Given the description of an element on the screen output the (x, y) to click on. 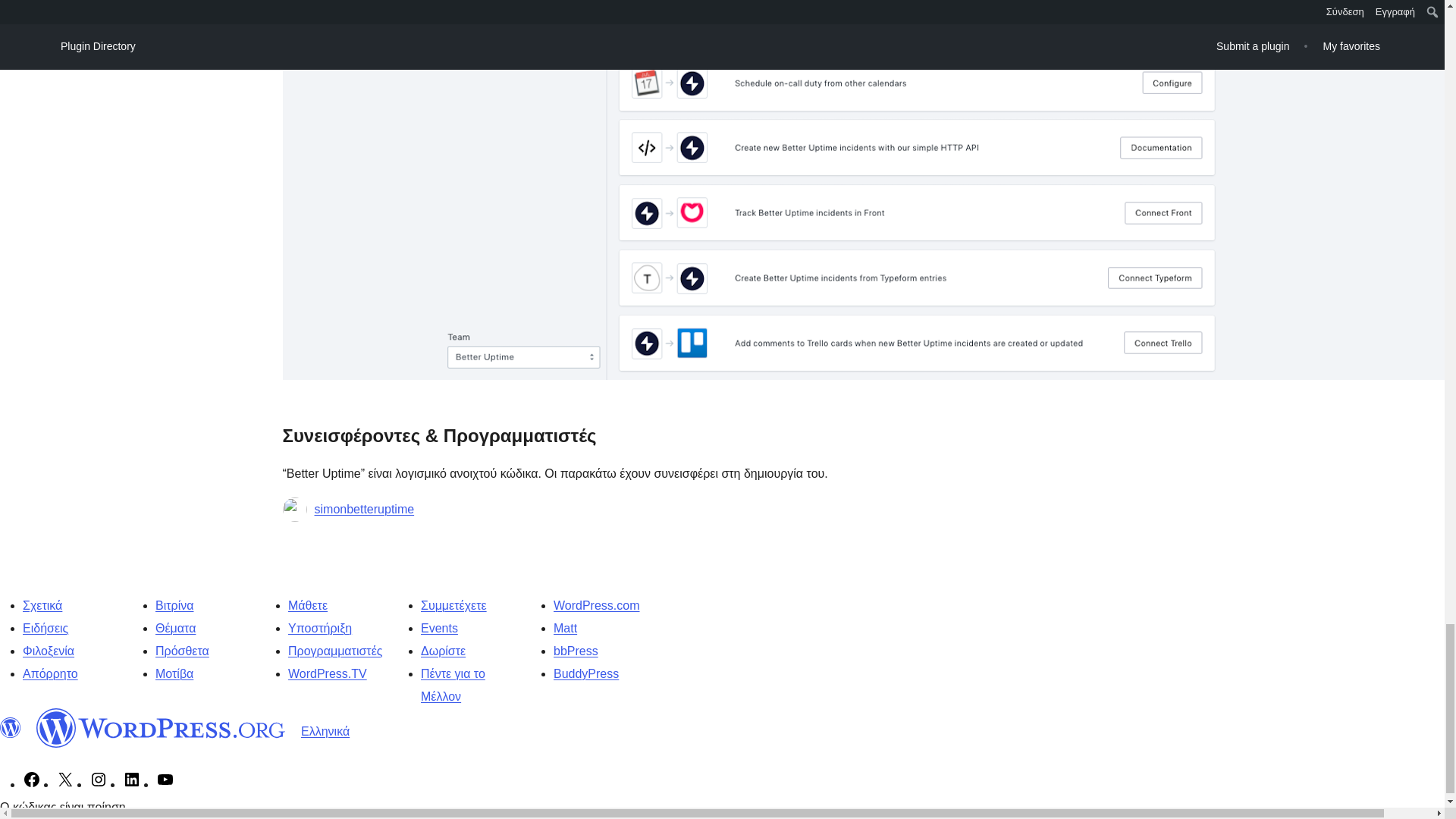
WordPress.org (10, 727)
WordPress.org (160, 727)
